Given the description of an element on the screen output the (x, y) to click on. 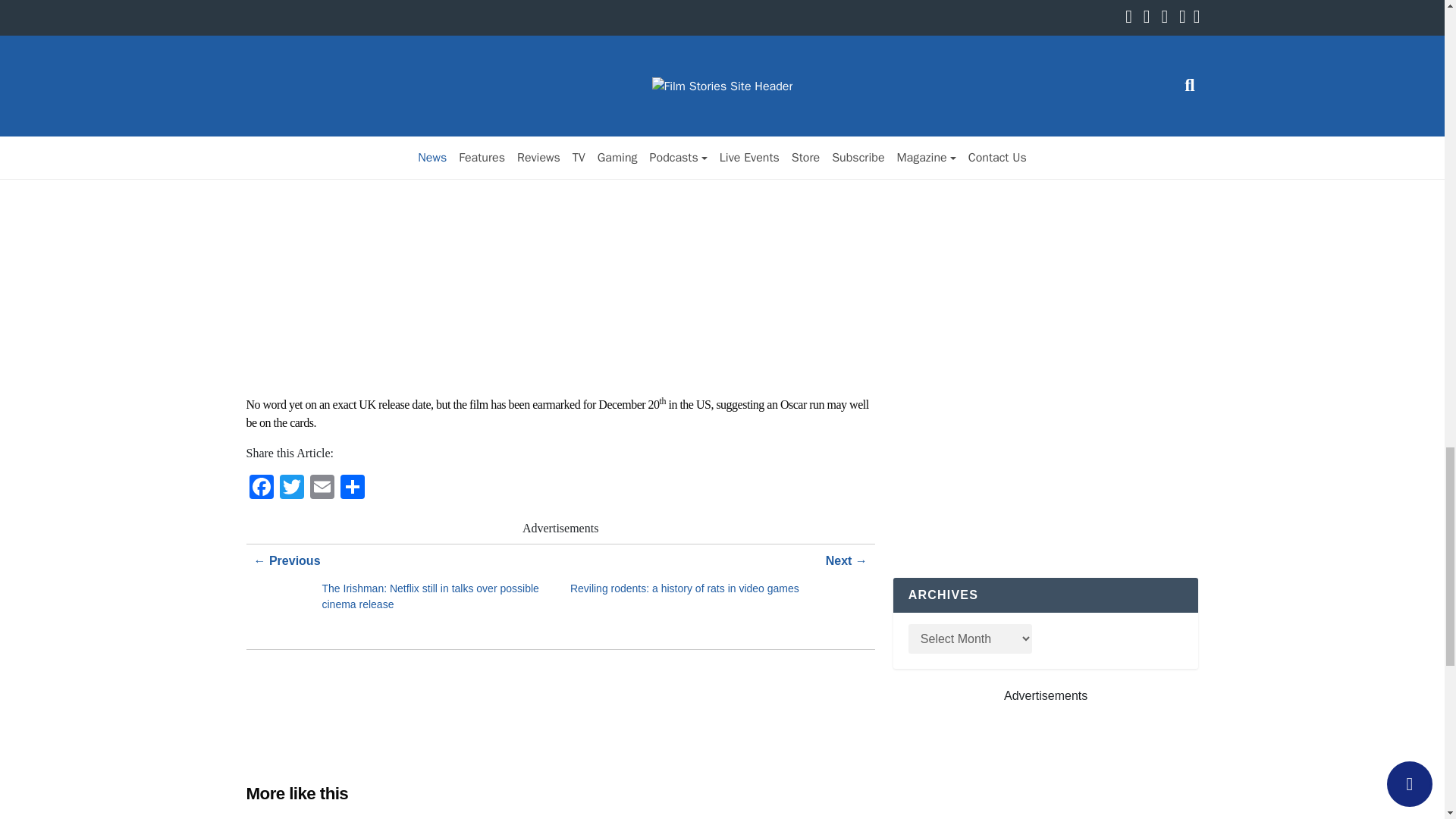
Email (320, 490)
Twitter (290, 490)
Facebook (261, 490)
Subscribe (926, 142)
